Given the description of an element on the screen output the (x, y) to click on. 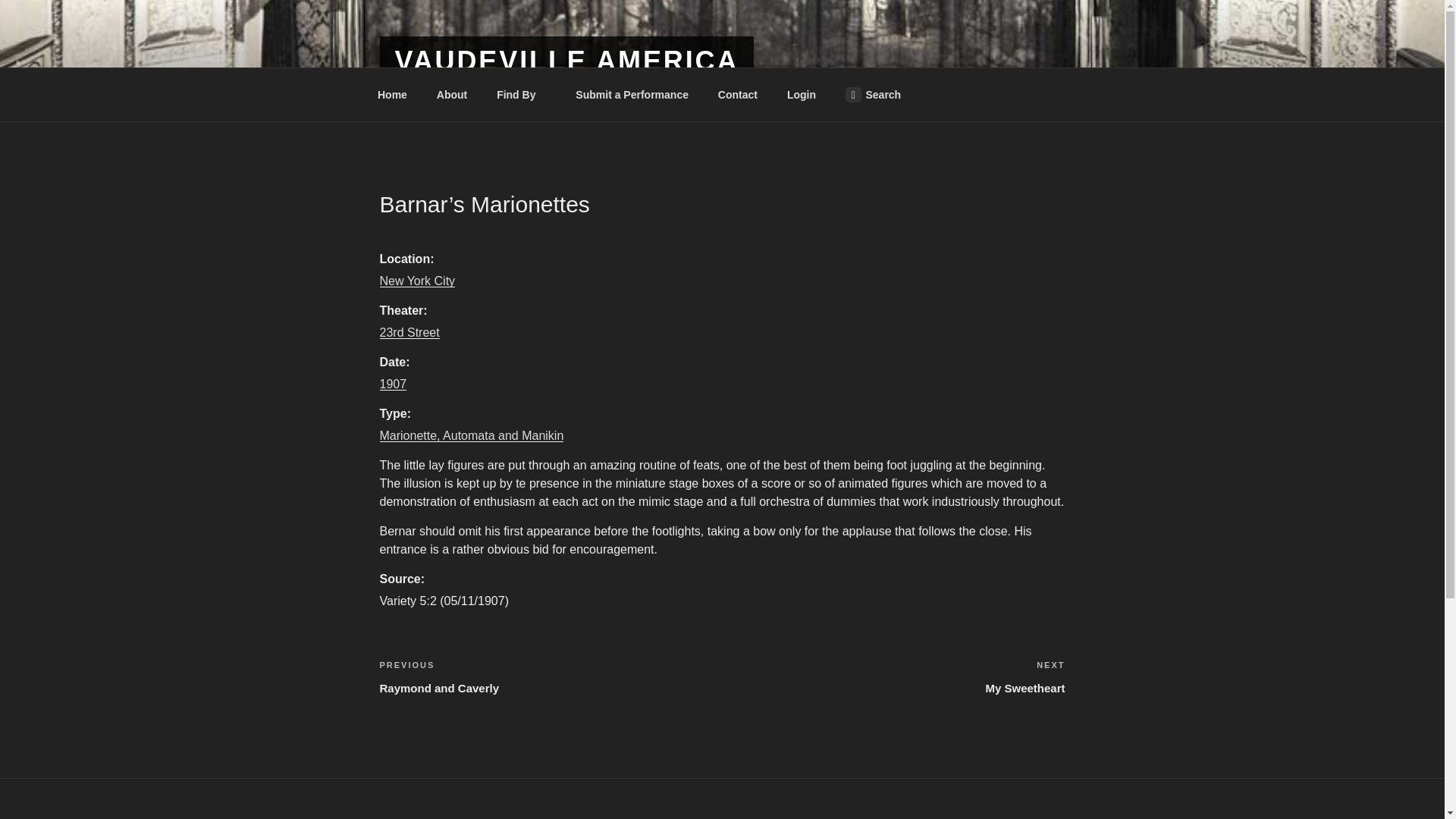
VAUDEVILLE AMERICA (893, 676)
Submit a Performance (566, 60)
Home (631, 94)
Login (392, 94)
Contact (800, 94)
1907 (737, 94)
Search (392, 383)
Marionette, Automata and Manikin (872, 94)
New York City (470, 435)
